Given the description of an element on the screen output the (x, y) to click on. 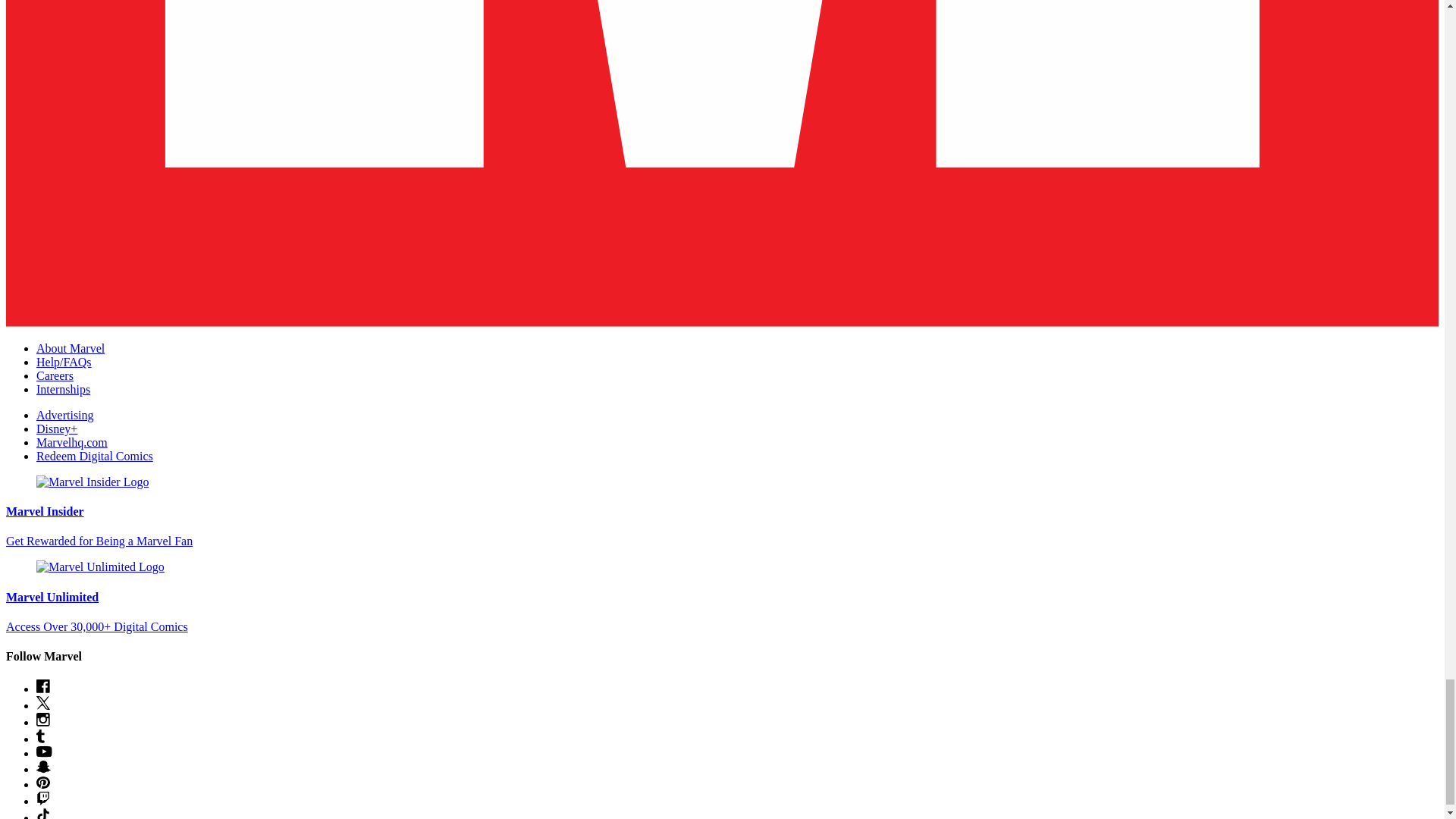
Redeem Digital Comics (94, 455)
Internships (63, 389)
Marvelhq.com (71, 441)
Careers (55, 375)
Advertising (65, 414)
About Marvel (70, 348)
